Given the description of an element on the screen output the (x, y) to click on. 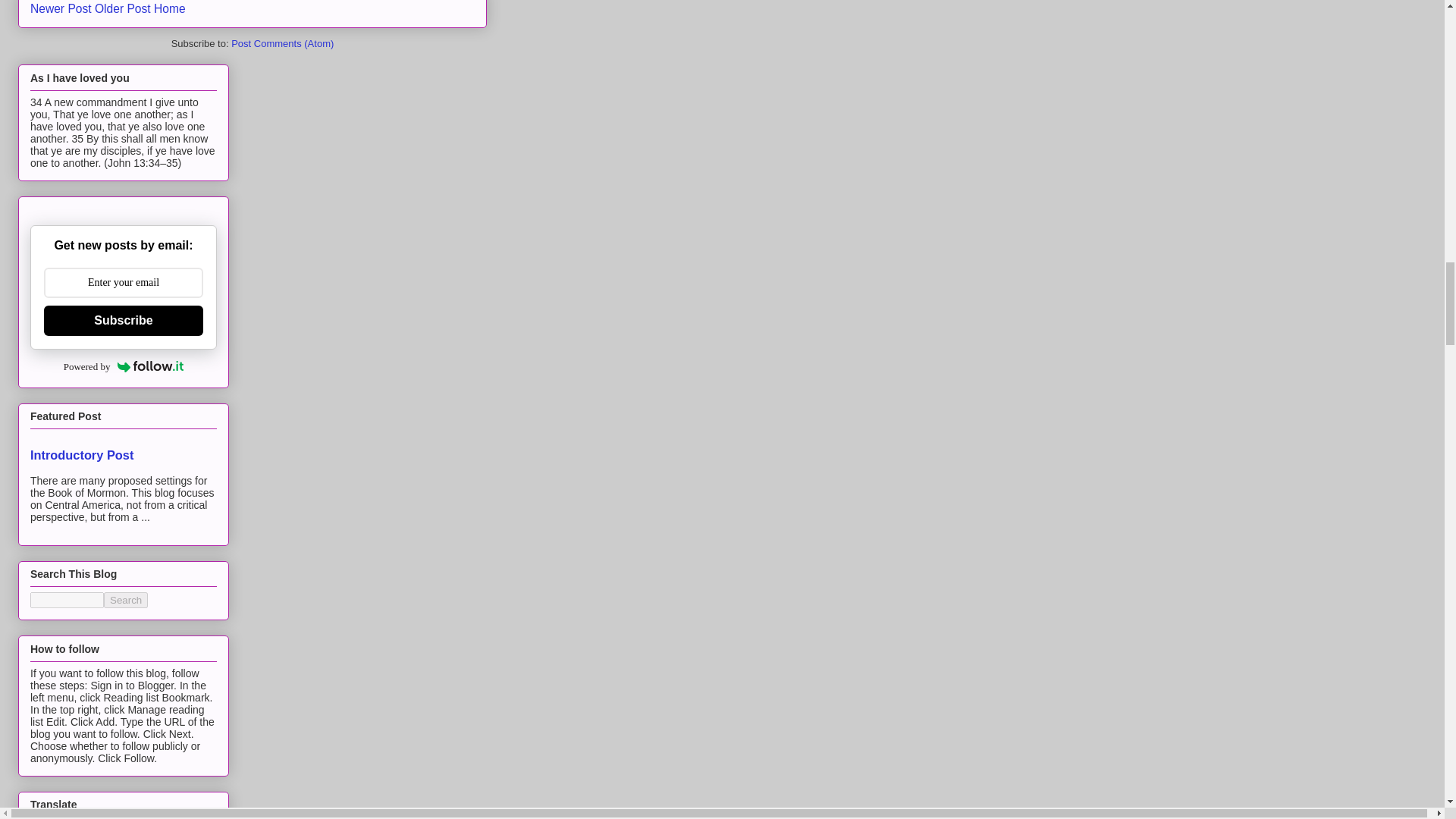
Newer Post (60, 8)
Search (125, 600)
Older Post (122, 8)
Newer Post (60, 8)
Search (125, 600)
search (125, 600)
Introductory Post (81, 454)
Search (125, 600)
Subscribe (123, 320)
Powered by (123, 366)
search (66, 600)
Home (170, 8)
Older Post (122, 8)
